Given the description of an element on the screen output the (x, y) to click on. 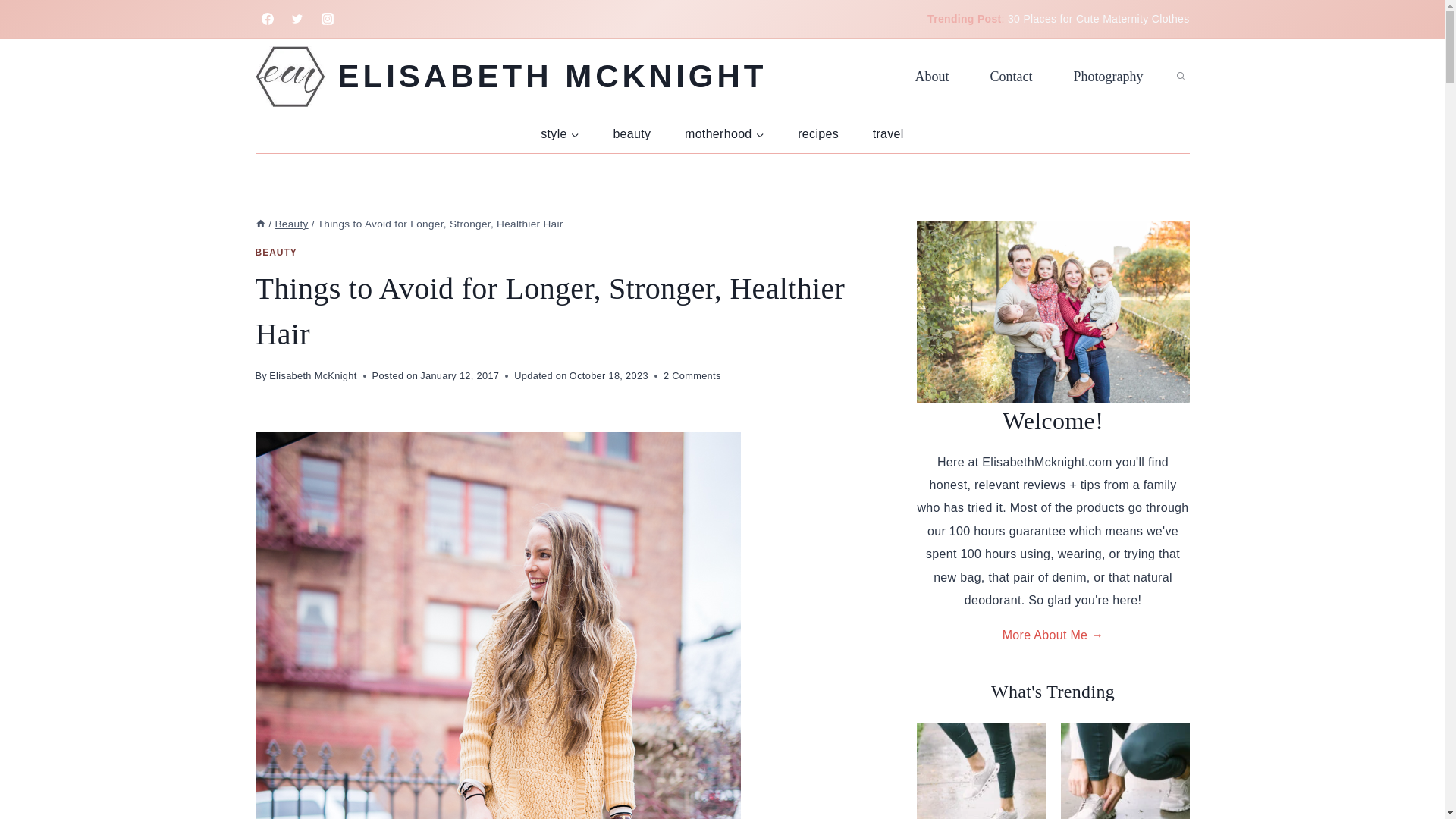
recipes (818, 134)
2 Comments (691, 375)
Home (259, 224)
Photography (1107, 76)
About (932, 76)
beauty (631, 134)
BEAUTY (275, 252)
ELISABETH MCKNIGHT (510, 75)
style (559, 134)
motherhood (724, 134)
travel (888, 134)
Beauty (291, 224)
Elisabeth McKnight (312, 375)
Contact (1010, 76)
30 Places for Cute Maternity Clothes (1098, 19)
